Given the description of an element on the screen output the (x, y) to click on. 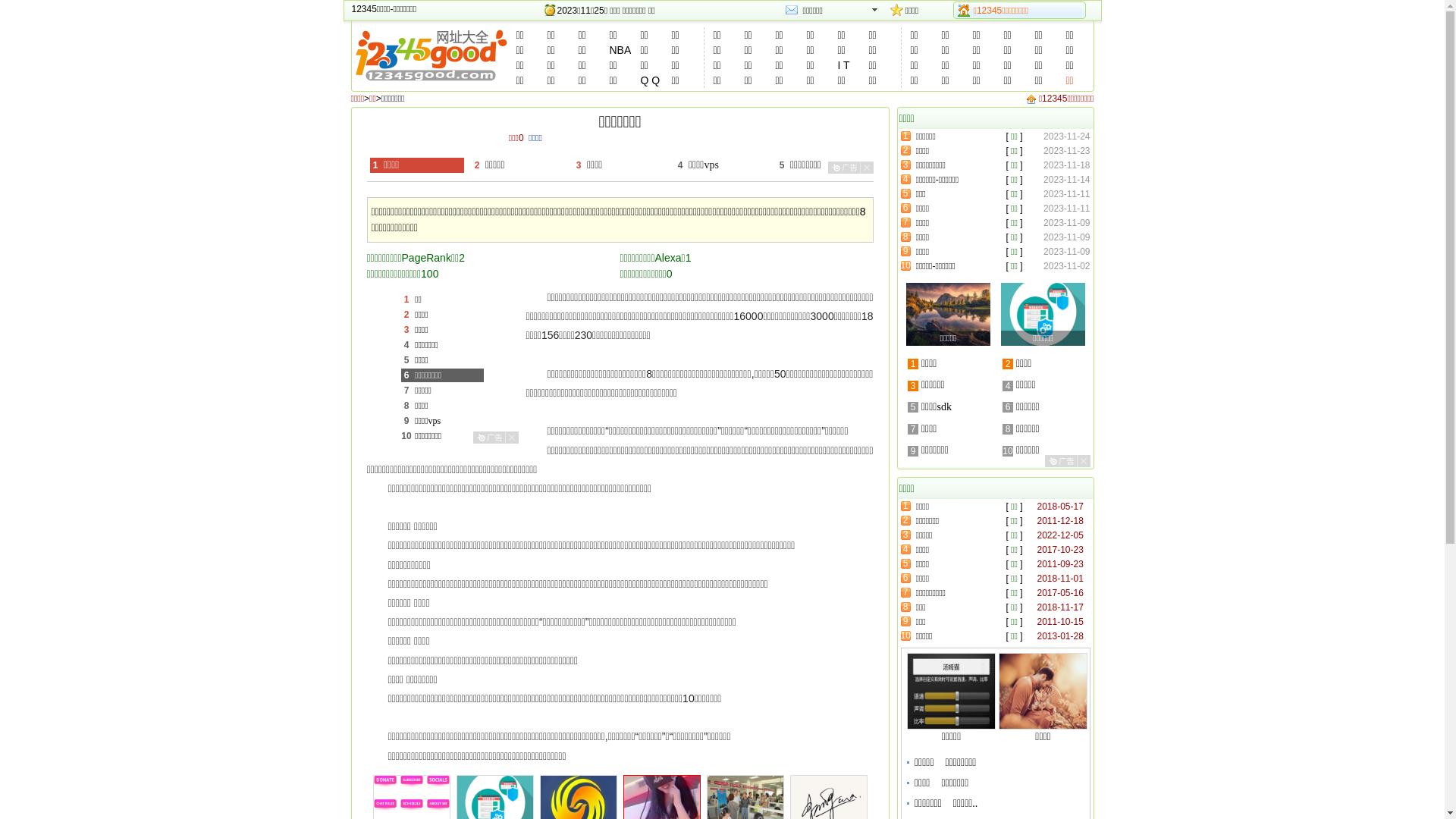
NBA Element type: text (620, 49)
I T Element type: text (842, 64)
Q Q Element type: text (649, 79)
